Given the description of an element on the screen output the (x, y) to click on. 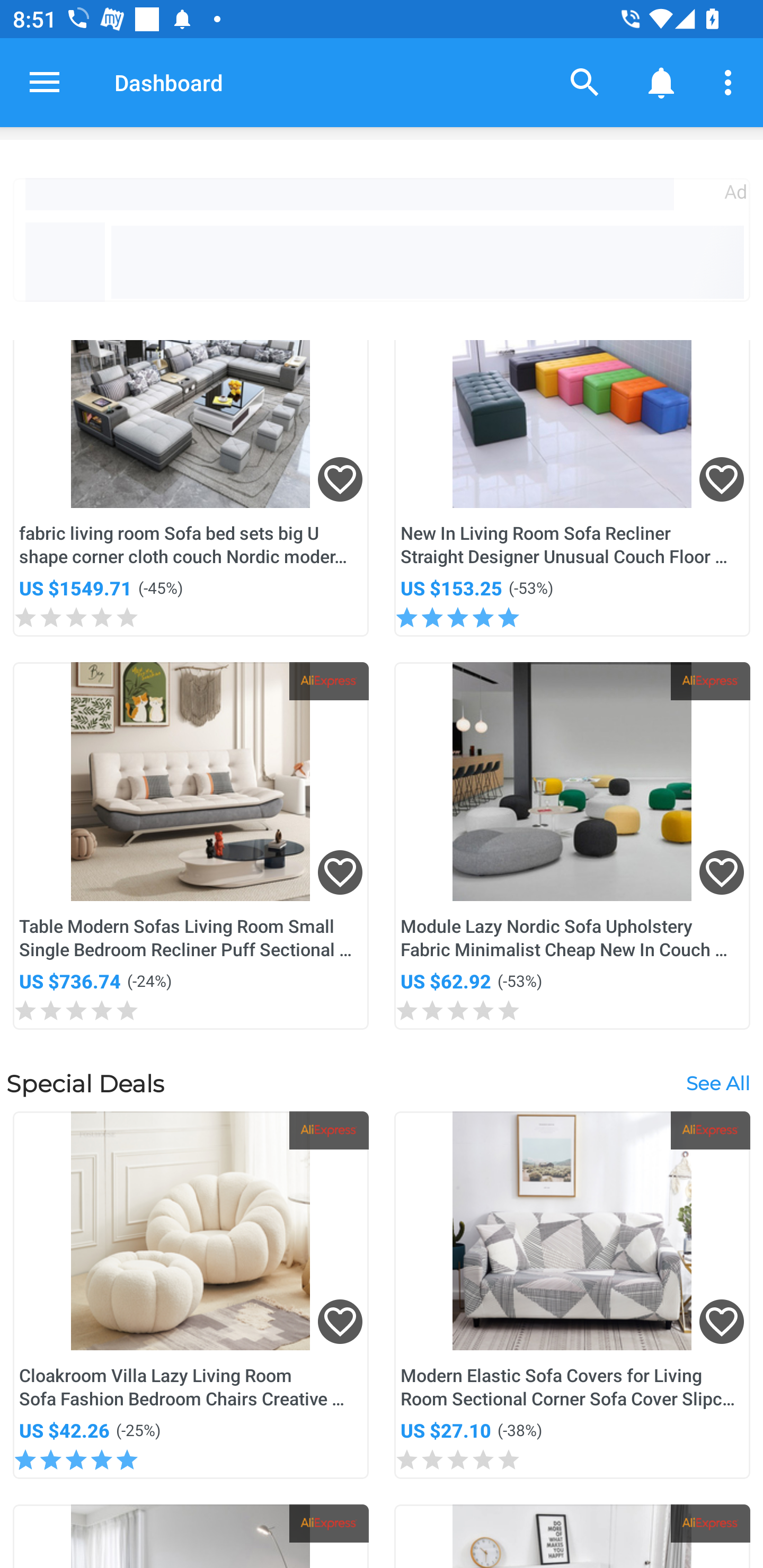
Open navigation drawer (44, 82)
Search (585, 81)
More options (731, 81)
See All (717, 1083)
